Given the description of an element on the screen output the (x, y) to click on. 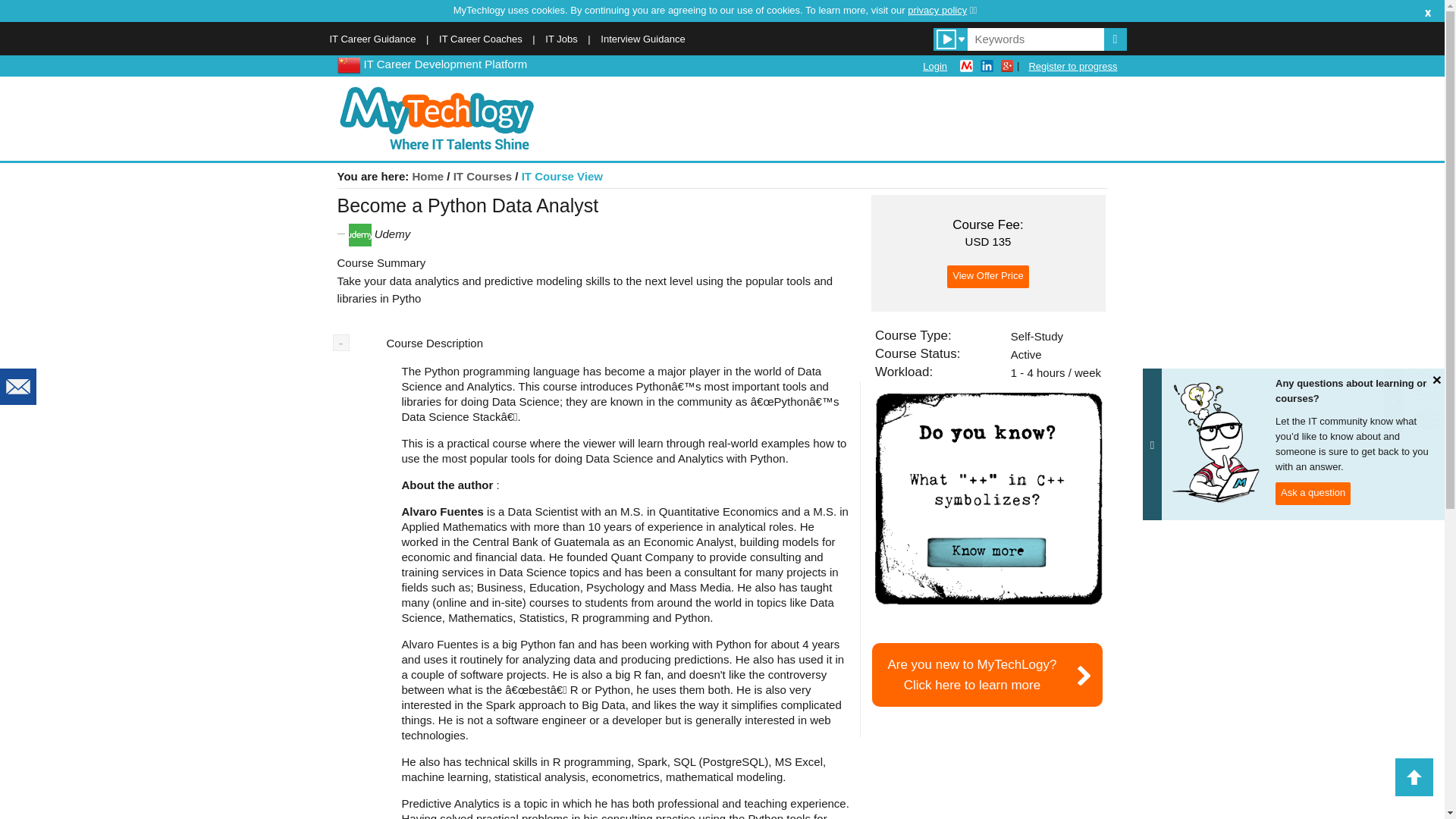
Register to progress (1071, 66)
Login (935, 66)
privacy policy  (941, 9)
View Offer Price (987, 276)
Interview Guidance (641, 39)
China (347, 63)
IT Career Guidance (371, 39)
IT Courses (482, 175)
IT Career Coaches (480, 39)
x (1428, 11)
IT Jobs (560, 39)
Home (428, 175)
